Given the description of an element on the screen output the (x, y) to click on. 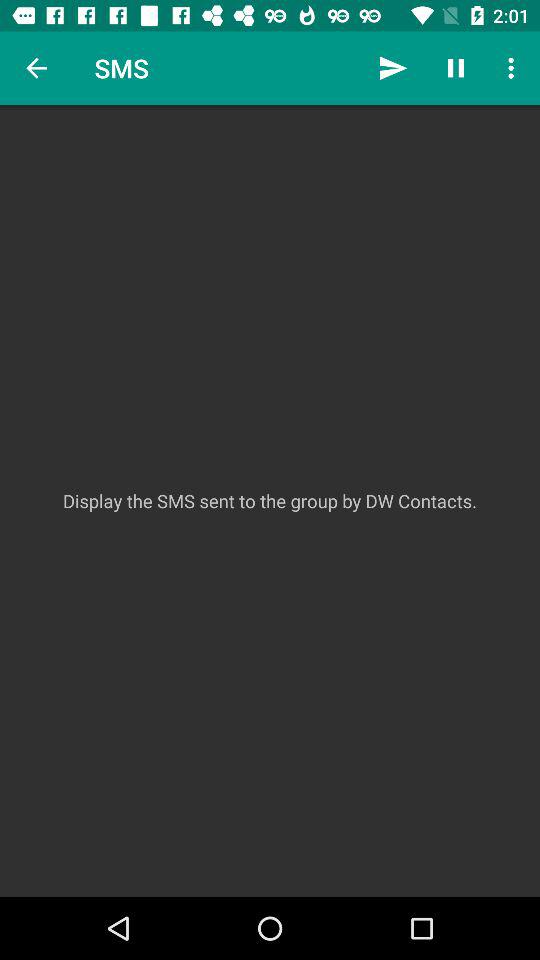
turn on the item next to sms icon (392, 67)
